Given the description of an element on the screen output the (x, y) to click on. 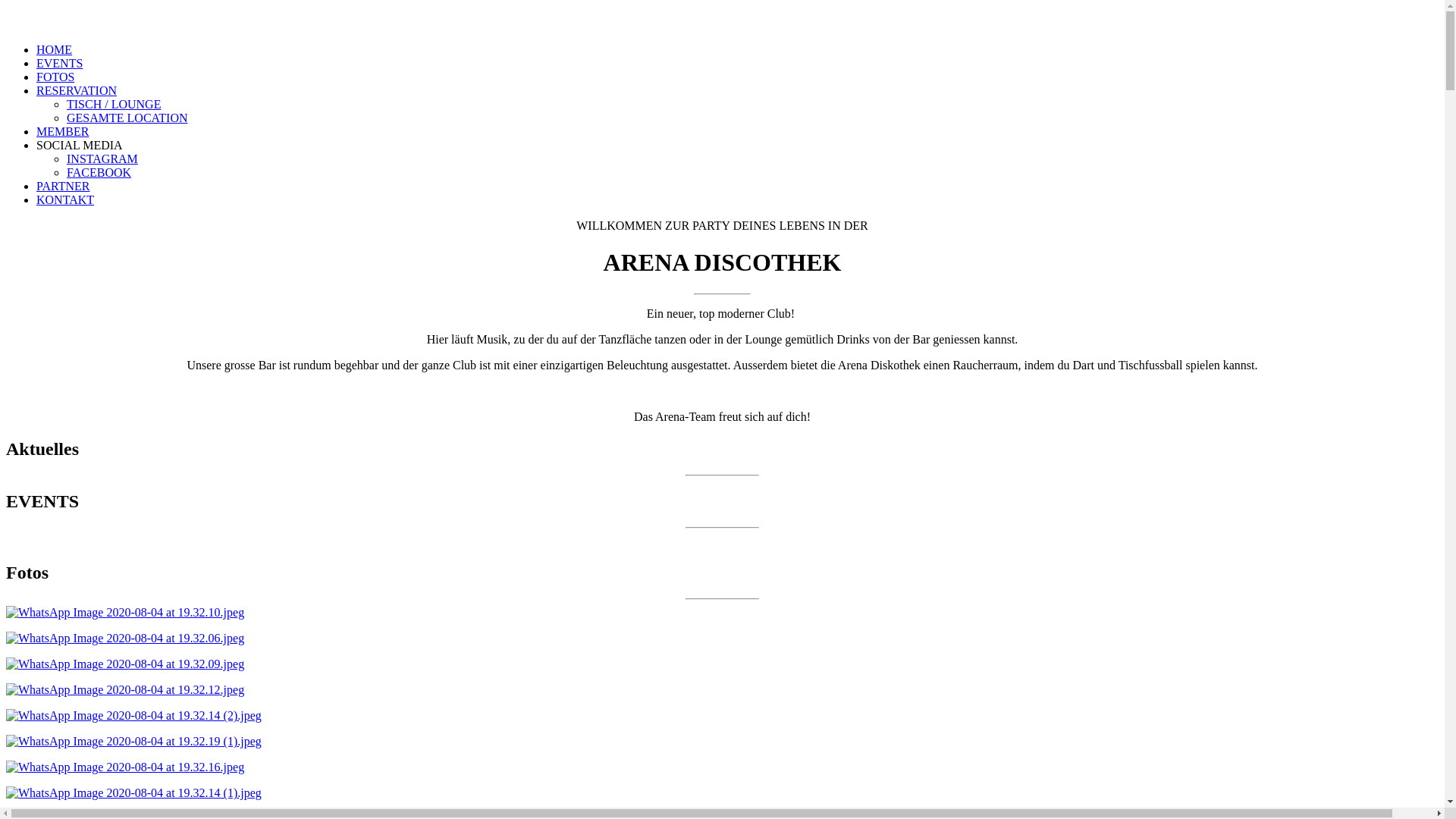
TISCH / LOUNGE Element type: text (113, 103)
SOCIAL MEDIA Element type: text (79, 144)
FACEBOOK Element type: text (98, 172)
MEMBER Element type: text (62, 131)
PARTNER Element type: text (62, 185)
RESERVATION Element type: text (76, 90)
INSTAGRAM Element type: text (102, 158)
FOTOS Element type: text (55, 76)
KONTAKT Element type: text (65, 199)
HOME Element type: text (54, 49)
GESAMTE LOCATION Element type: text (127, 117)
EVENTS Element type: text (59, 62)
